Given the description of an element on the screen output the (x, y) to click on. 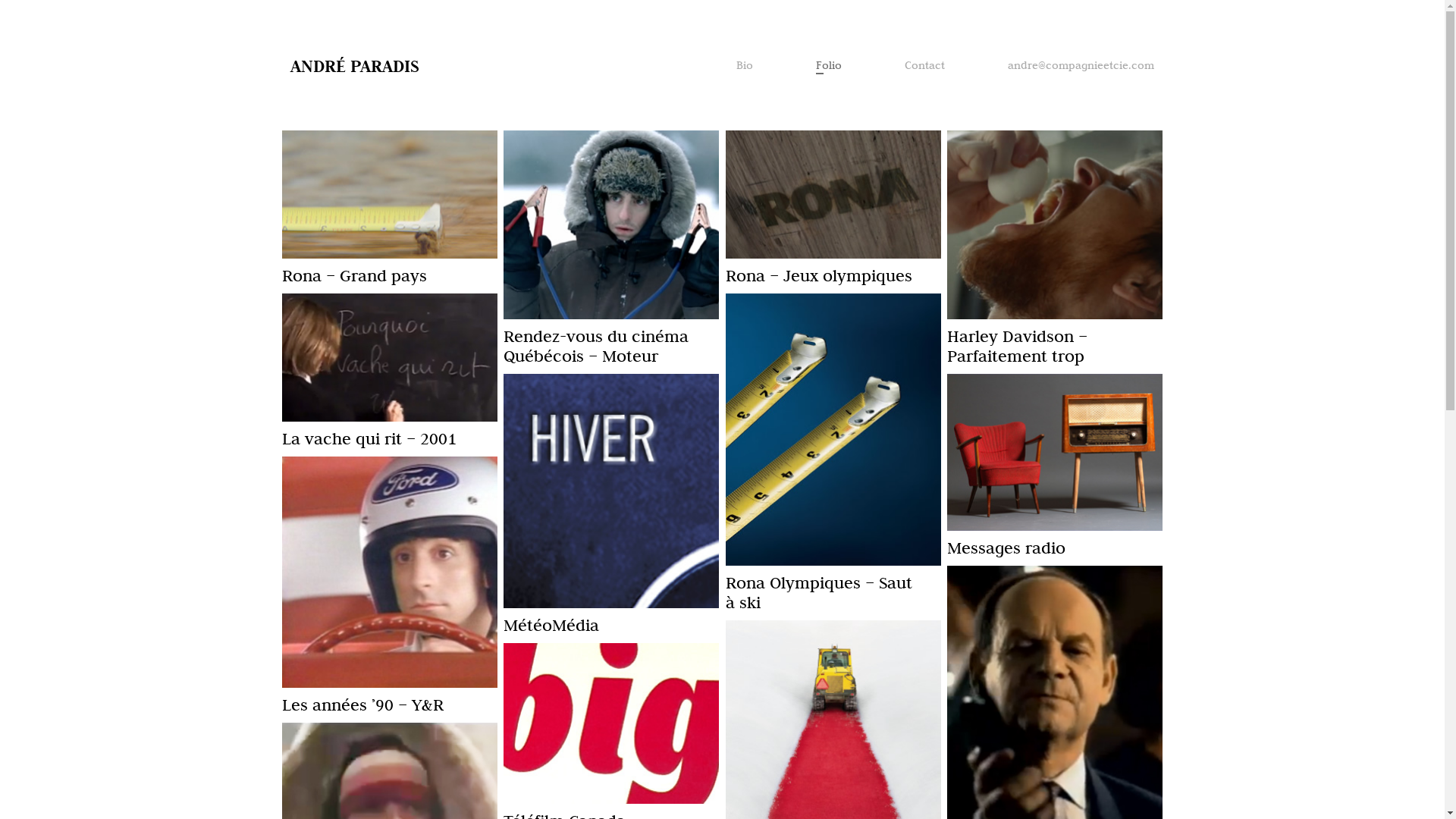
andre@compagnieetcie.com Element type: text (1080, 65)
Contact Element type: text (924, 65)
Folio Element type: text (828, 65)
Messages radio Element type: text (1005, 547)
Bio Element type: text (744, 65)
